Given the description of an element on the screen output the (x, y) to click on. 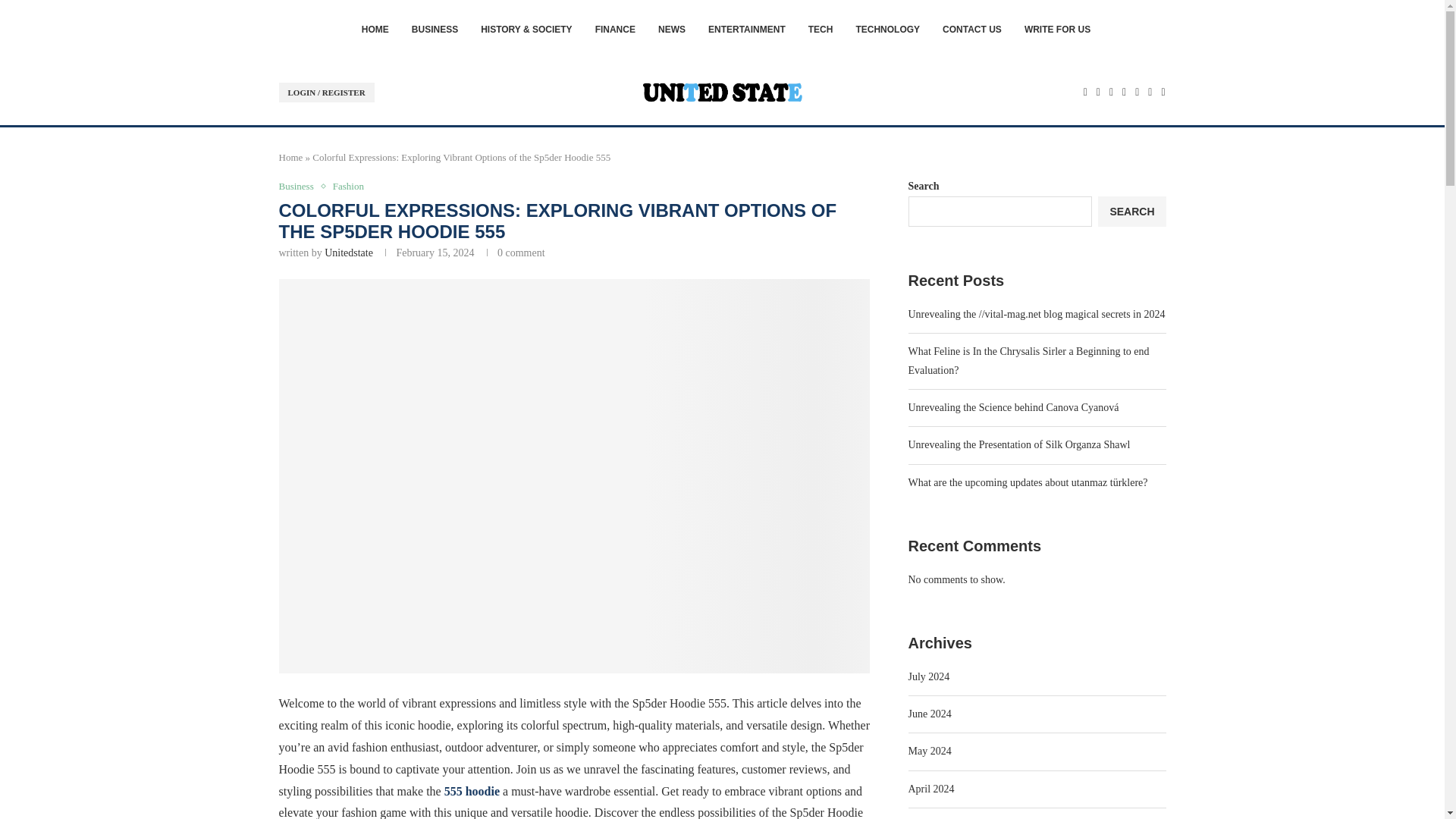
Search (1117, 58)
TECH (820, 29)
HOME (374, 29)
FINANCE (614, 29)
NEWS (671, 29)
WRITE FOR US (1057, 29)
TECHNOLOGY (888, 29)
ENTERTAINMENT (746, 29)
BUSINESS (435, 29)
CONTACT US (971, 29)
